Given the description of an element on the screen output the (x, y) to click on. 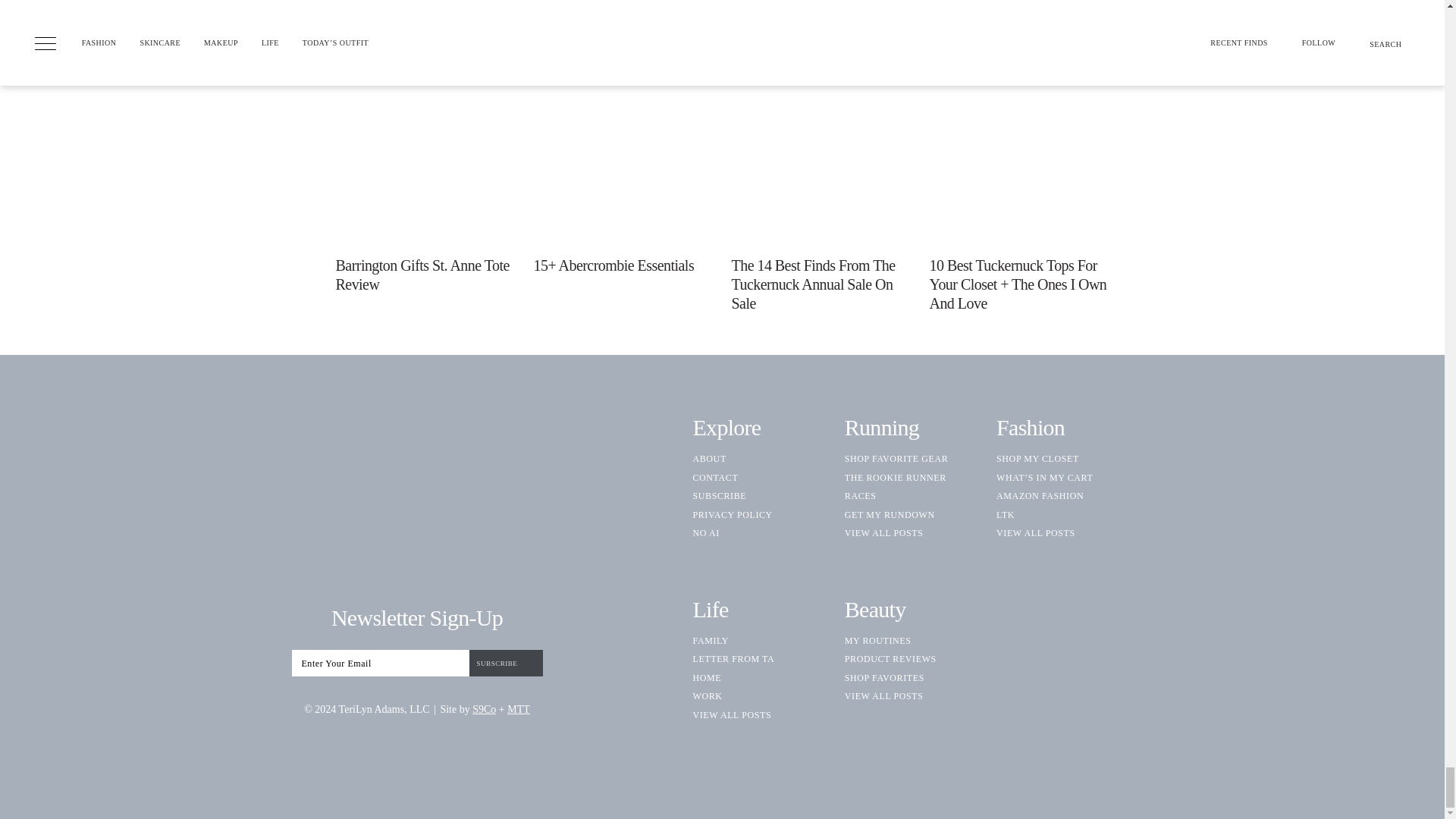
Subscribe (504, 663)
